Given the description of an element on the screen output the (x, y) to click on. 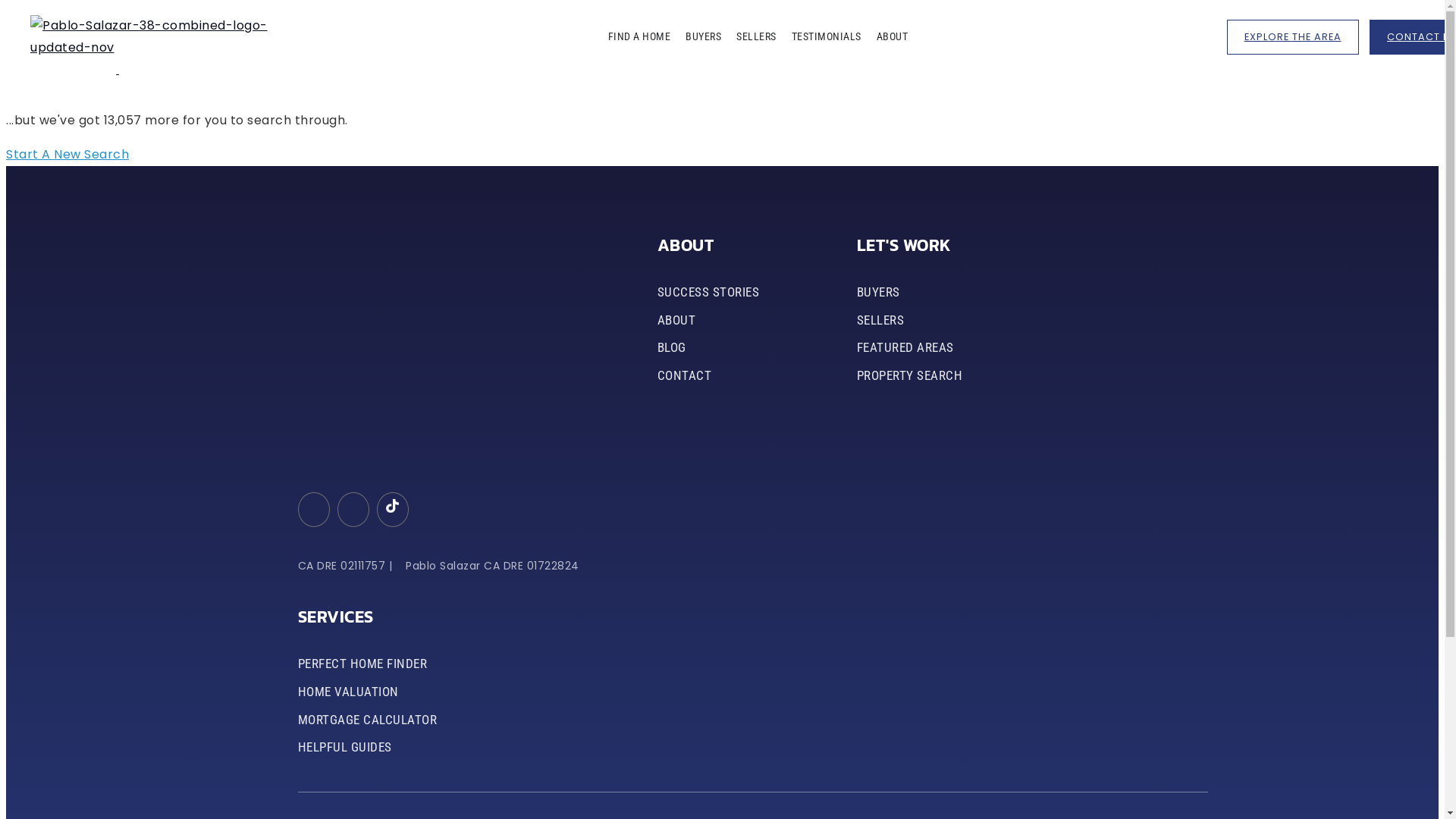
SUCCESS STORIES Element type: text (708, 292)
SELLERS Element type: text (880, 320)
FIND A HOME Element type: text (639, 36)
FEATURED AREAS Element type: text (905, 347)
BLOG Element type: text (671, 347)
SELLERS Element type: text (756, 36)
MORTGAGE CALCULATOR Element type: text (367, 720)
TESTIMONIALS Element type: text (826, 36)
PERFECT HOME FINDER Element type: text (362, 663)
BUYERS Element type: text (703, 36)
Start A New Search Element type: text (67, 154)
ABOUT Element type: text (892, 36)
HELPFUL GUIDES Element type: text (344, 747)
HOME VALUATION Element type: text (348, 691)
PROPERTY SEARCH Element type: text (909, 375)
BUYERS Element type: text (878, 292)
ABOUT Element type: text (676, 320)
EXPLORE THE AREA Element type: text (1292, 36)
CONTACT Element type: text (684, 375)
